Given the description of an element on the screen output the (x, y) to click on. 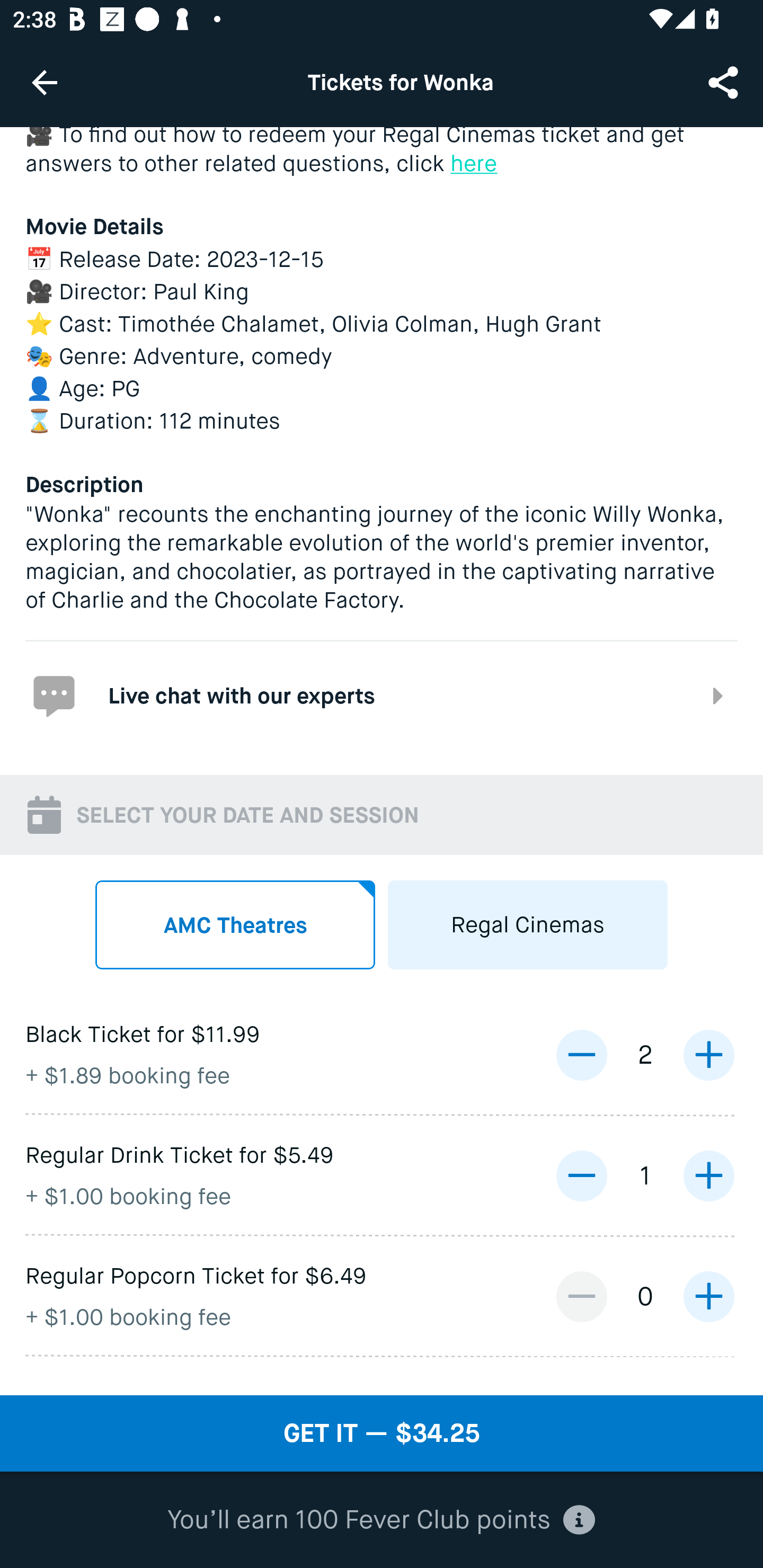
Navigate up (44, 82)
Share (724, 81)
Live chat with our experts (381, 694)
AMC Theatres (235, 924)
Regal Cinemas (527, 924)
decrease (581, 1054)
increase (708, 1054)
decrease (581, 1175)
increase (708, 1175)
decrease (581, 1296)
increase (708, 1296)
GET IT — $34.25 (381, 1433)
You’ll earn 100 Fever Club points (381, 1519)
